Given the description of an element on the screen output the (x, y) to click on. 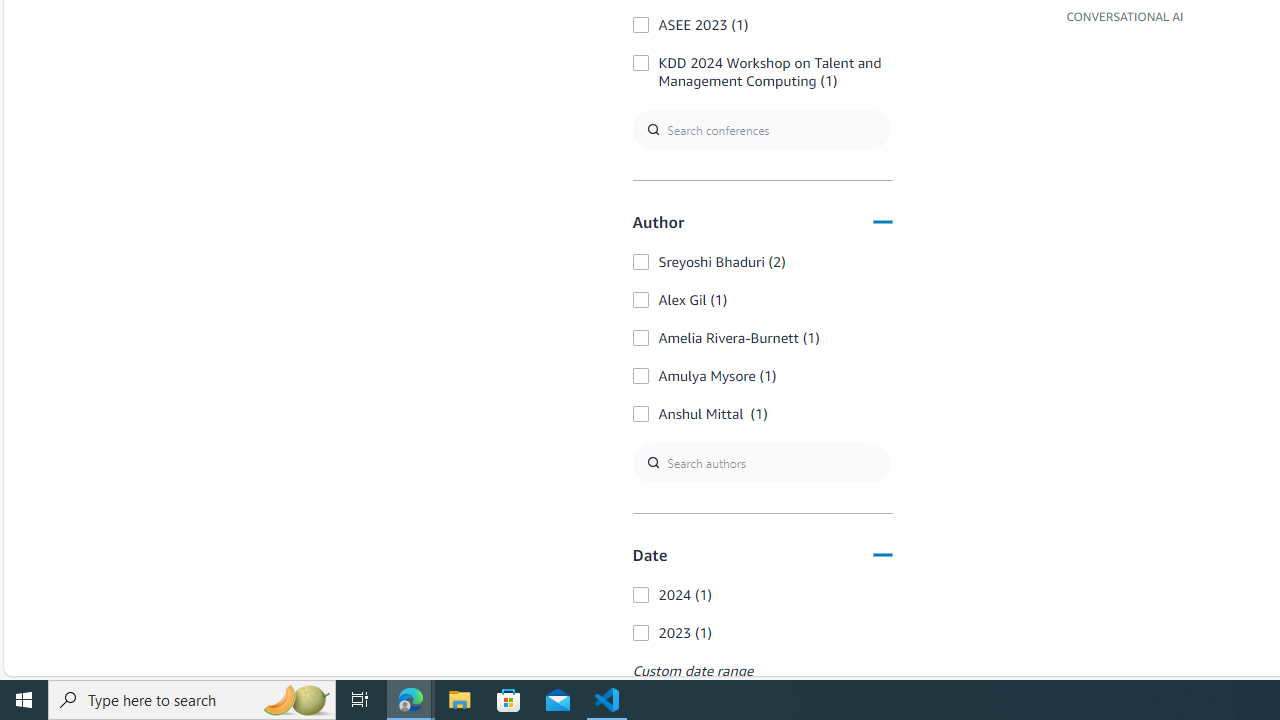
Search authors (760, 462)
Search conferences (760, 128)
